Given the description of an element on the screen output the (x, y) to click on. 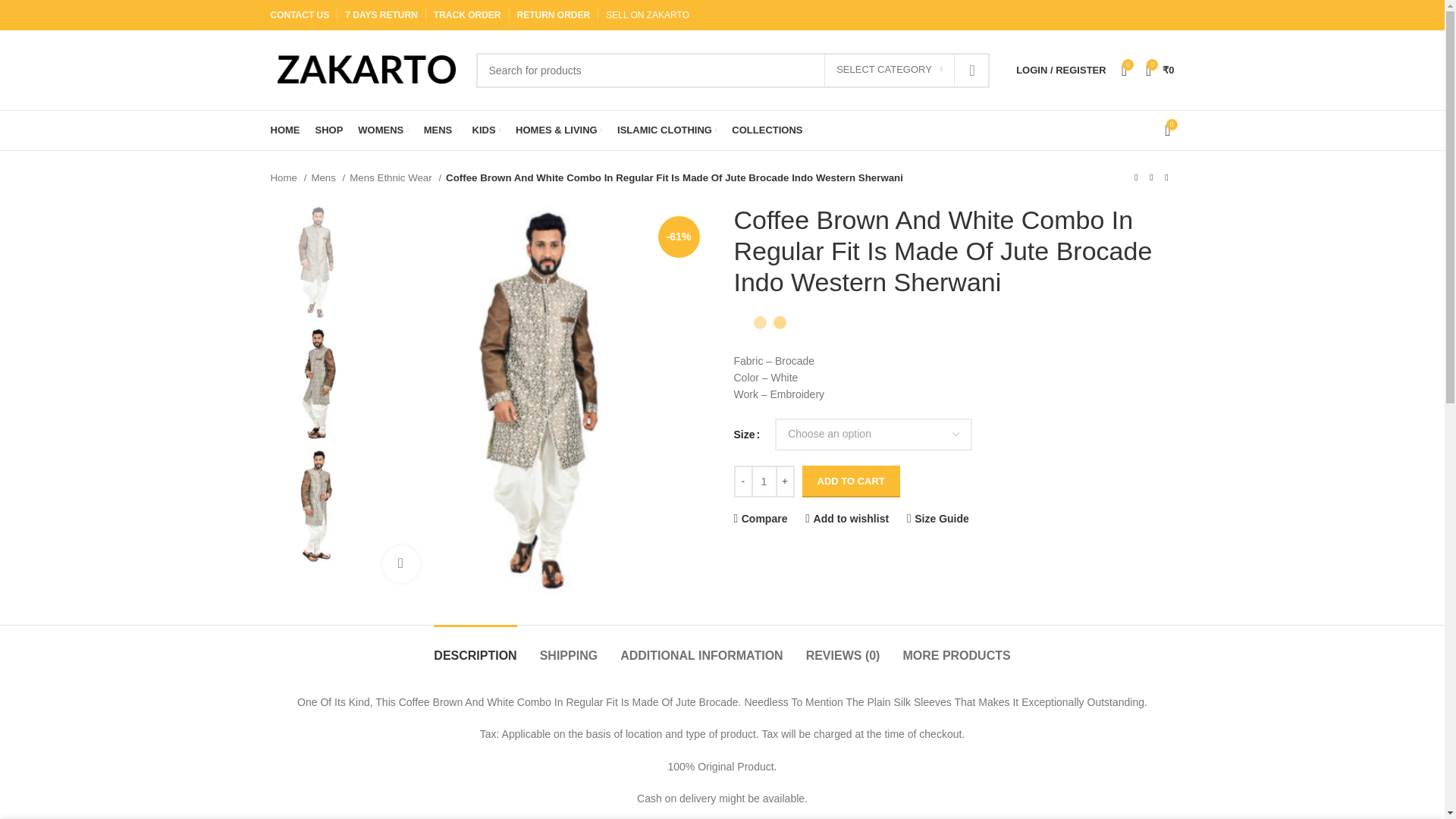
SELECT CATEGORY (889, 70)
SELL ON ZAKARTO (646, 15)
CONTACT US (299, 14)
RETURN ORDER (553, 14)
My account (1061, 69)
Search for products (733, 70)
7 DAYS RETURN (381, 14)
Shopping cart (1160, 69)
TRACK ORDER (466, 14)
SELECT CATEGORY (889, 70)
